Given the description of an element on the screen output the (x, y) to click on. 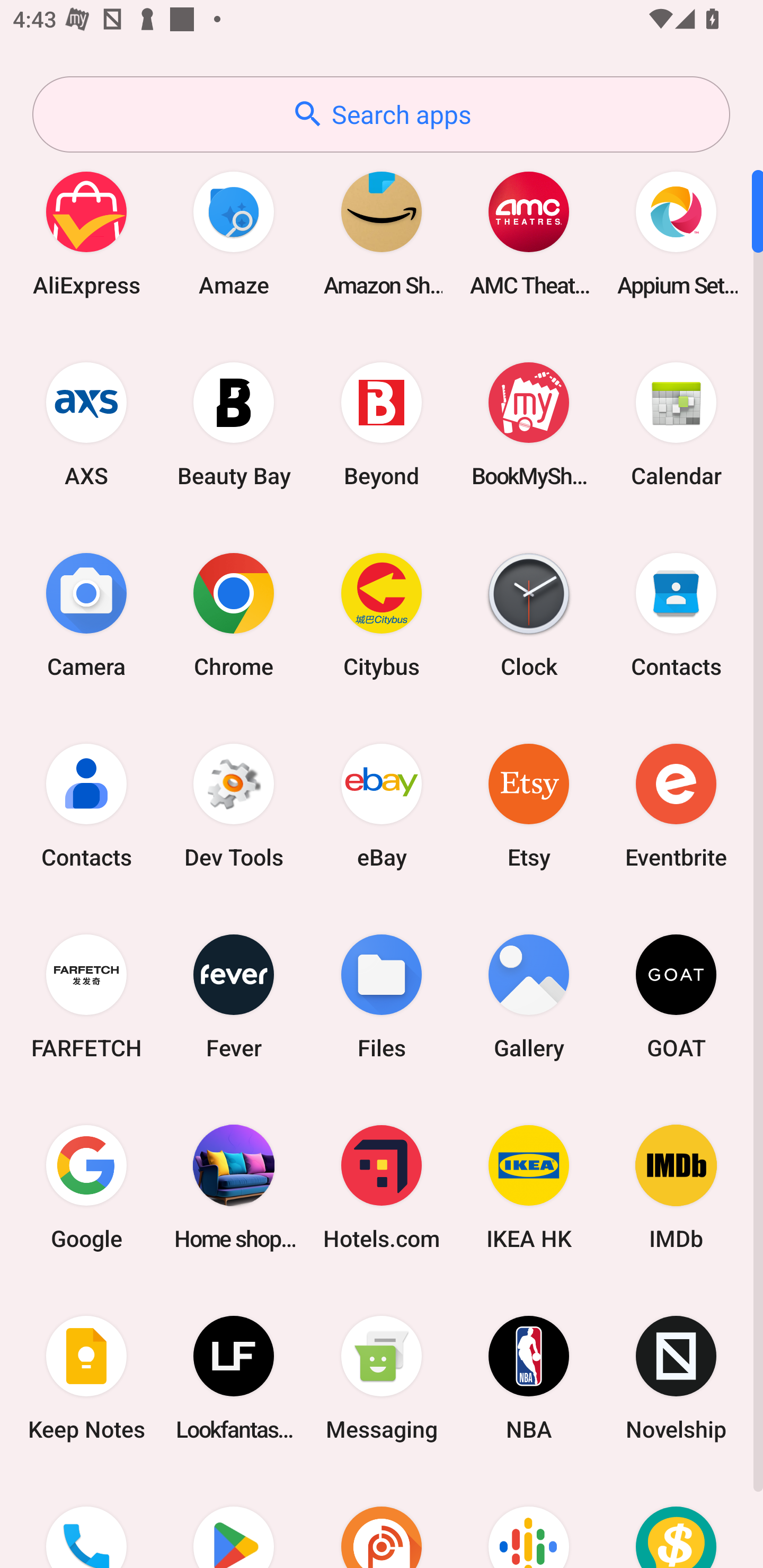
  Search apps (381, 114)
AliExpress (86, 233)
Amaze (233, 233)
Amazon Shopping (381, 233)
AMC Theatres (528, 233)
Appium Settings (676, 233)
AXS (86, 424)
Beauty Bay (233, 424)
Beyond (381, 424)
BookMyShow (528, 424)
Calendar (676, 424)
Camera (86, 614)
Chrome (233, 614)
Citybus (381, 614)
Clock (528, 614)
Contacts (676, 614)
Contacts (86, 805)
Dev Tools (233, 805)
eBay (381, 805)
Etsy (528, 805)
Eventbrite (676, 805)
FARFETCH (86, 996)
Fever (233, 996)
Files (381, 996)
Gallery (528, 996)
GOAT (676, 996)
Google (86, 1186)
Home shopping (233, 1186)
Hotels.com (381, 1186)
IKEA HK (528, 1186)
IMDb (676, 1186)
Keep Notes (86, 1377)
Lookfantastic (233, 1377)
Messaging (381, 1377)
NBA (528, 1377)
Novelship (676, 1377)
Phone (86, 1520)
Play Store (233, 1520)
Podcast Addict (381, 1520)
Podcasts (528, 1520)
Price (676, 1520)
